Given the description of an element on the screen output the (x, y) to click on. 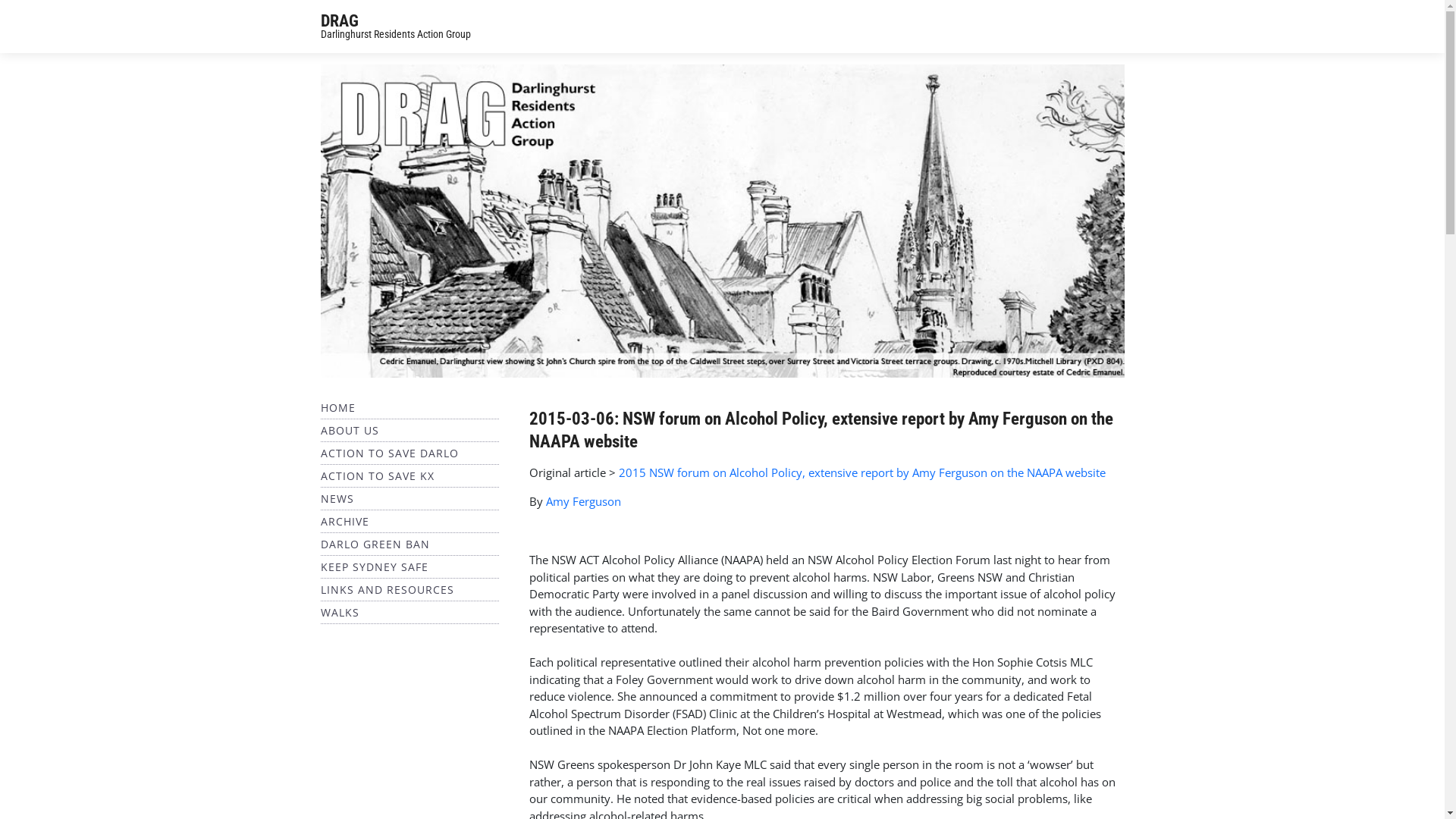
Amy Ferguson Element type: text (583, 500)
ARCHIVE Element type: text (344, 521)
ACTION TO SAVE KX Element type: text (376, 475)
ACTION TO SAVE DARLO Element type: text (389, 452)
LINKS AND RESOURCES Element type: text (386, 589)
HOME Element type: text (337, 407)
WALKS Element type: text (339, 612)
DRAG Element type: text (338, 20)
KEEP SYDNEY SAFE Element type: text (373, 566)
ABOUT US Element type: text (349, 430)
DARLO GREEN BAN Element type: text (374, 543)
NEWS Element type: text (336, 498)
